Given the description of an element on the screen output the (x, y) to click on. 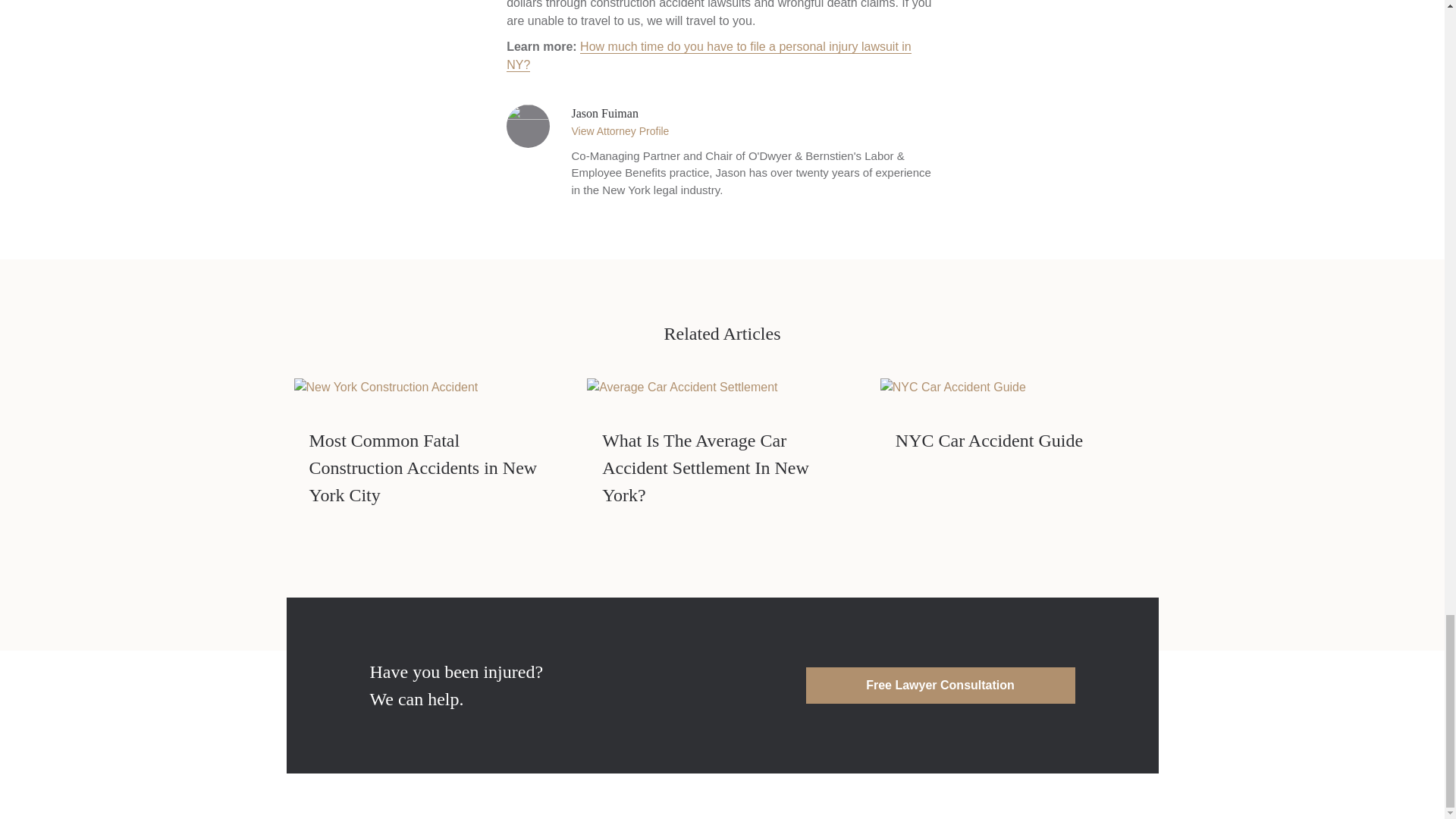
Most Common Fatal Construction Accidents in New York City (422, 467)
Most Common Fatal Construction Accidents in New York City (386, 386)
Free Lawyer Consultation (939, 685)
What Is The Average Car Accident Settlement In New York? (681, 386)
What Is The Average Car Accident Settlement In New York? (705, 467)
Most Common Fatal Construction Accidents in New York City (422, 467)
NYC Car Accident Guide (989, 440)
What Is The Average Car Accident Settlement In New York? (705, 467)
NYC Car Accident Guide (953, 386)
